Given the description of an element on the screen output the (x, y) to click on. 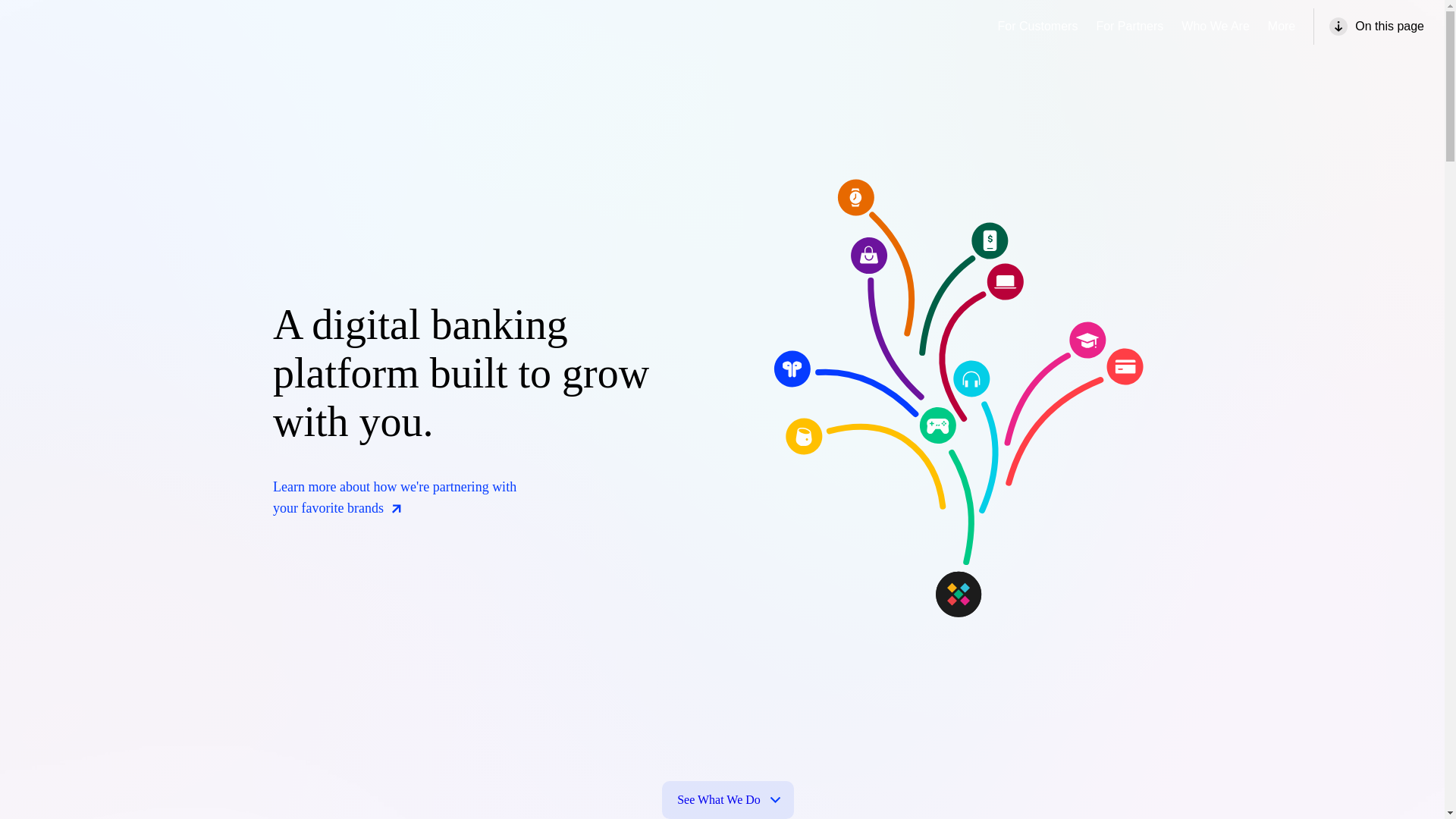
For Partners (1129, 26)
Who We Are (1215, 26)
For Customers (1037, 26)
See What We Do (727, 800)
See What We Do (727, 800)
On this page (1372, 26)
